Given the description of an element on the screen output the (x, y) to click on. 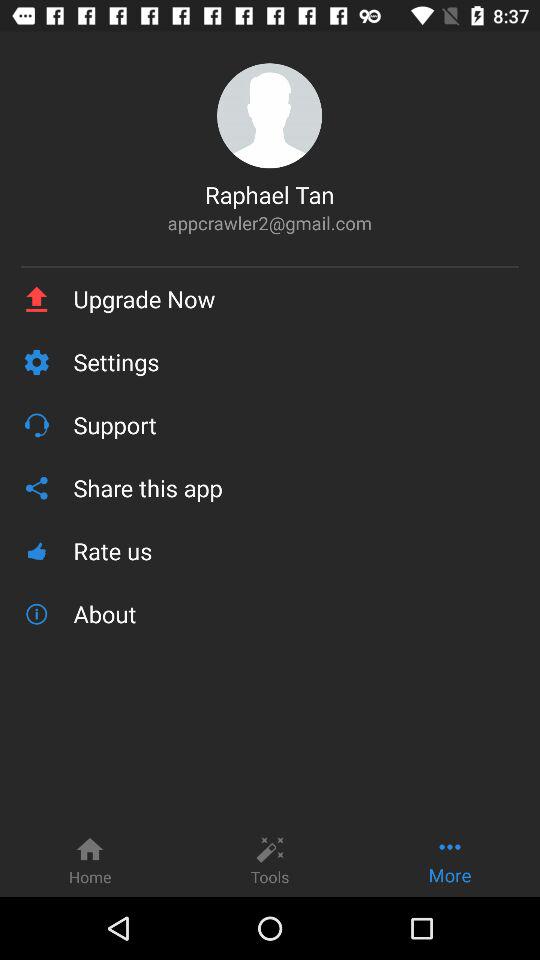
open the icon above the settings icon (296, 299)
